Given the description of an element on the screen output the (x, y) to click on. 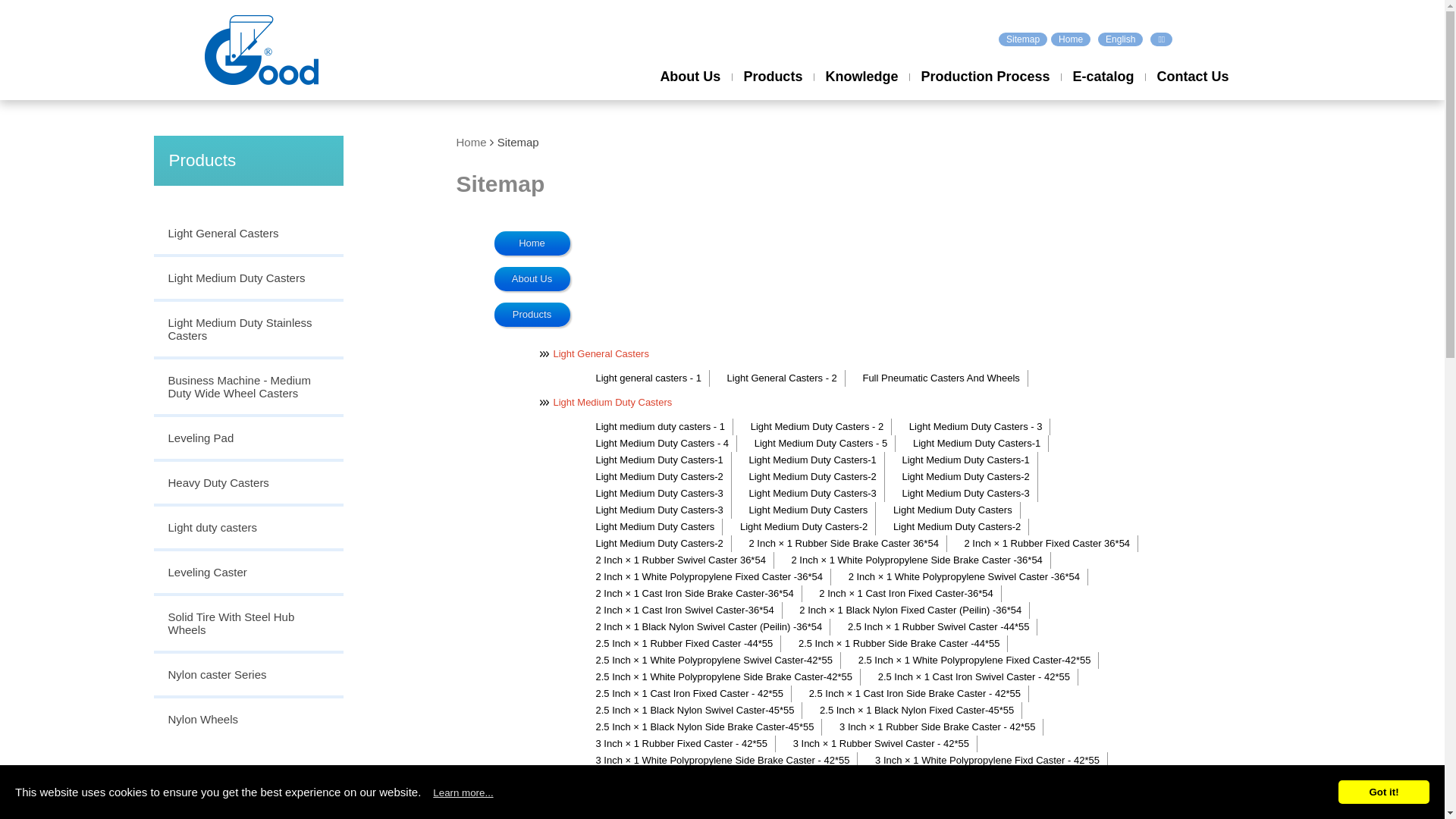
Heavy Duty Casters Element type: text (247, 483)
Light Medium Duty Casters-1 Element type: text (658, 459)
Light Medium Duty Casters-1 Element type: text (964, 459)
Light Medium Duty Casters-2 Element type: text (802, 526)
Light Medium Duty Casters Element type: text (951, 510)
Solid Tire With Steel Hub Wheels Element type: text (247, 624)
Got it! Element type: text (1383, 791)
Light medium duty casters - 1 Element type: text (659, 426)
Light Medium Duty Casters - 5 Element type: text (819, 443)
Light Medium Duty Casters-3 Element type: text (964, 493)
Light Medium Duty Casters-2 Element type: text (964, 476)
Products Element type: text (772, 90)
Knowledge Element type: text (861, 90)
Light Medium Duty Casters-3 Element type: text (658, 510)
Home Element type: text (1070, 39)
Light Medium Duty Casters - 4 Element type: text (661, 443)
Nylon caster Series Element type: text (247, 675)
Light Medium Duty Casters Element type: text (605, 401)
Leveling Caster Element type: text (247, 573)
Full Pneumatic Casters And Wheels Element type: text (939, 378)
Light Medium Duty Casters-3 Element type: text (810, 493)
Sitemap Element type: text (1022, 39)
Learn more... Element type: text (462, 791)
Light Medium Duty Casters-2 Element type: text (658, 476)
Light General Casters - 2 Element type: text (780, 378)
Light Medium Duty Casters Element type: text (247, 279)
Light Medium Duty Casters-3 Element type: text (658, 493)
Nylon Wheels Element type: text (247, 719)
English Element type: text (1120, 39)
Light Medium Duty Casters - 3 Element type: text (974, 426)
Home Element type: text (532, 243)
Light general casters - 1 Element type: text (647, 378)
About Us Element type: text (532, 278)
Light Medium Duty Casters-2 Element type: text (658, 543)
Production Process Element type: text (984, 90)
Light Medium Duty Casters Element type: text (654, 526)
Light Medium Duty Casters Element type: text (806, 510)
Light Medium Duty Casters-1 Element type: text (810, 459)
About Us Element type: text (689, 90)
Products Element type: text (532, 314)
Light General Casters Element type: text (247, 234)
Business Machine - Medium Duty Wide Wheel Casters Element type: text (247, 388)
Light Medium Duty Casters-1 Element type: text (975, 443)
GREAT MING LEN ENTERPRISE CO., LTD. Element type: hover (261, 49)
Light Medium Duty Stainless Casters Element type: text (247, 330)
Light Medium Duty Casters-2 Element type: text (955, 526)
Home Element type: text (471, 141)
Light Medium Duty Casters - 2 Element type: text (816, 426)
Light Medium Duty Casters-2 Element type: text (810, 476)
Light duty casters Element type: text (247, 528)
Light General Casters Element type: text (594, 353)
Leveling Pad Element type: text (247, 439)
Contact Us Element type: text (1192, 90)
E-catalog Element type: text (1102, 90)
